Given the description of an element on the screen output the (x, y) to click on. 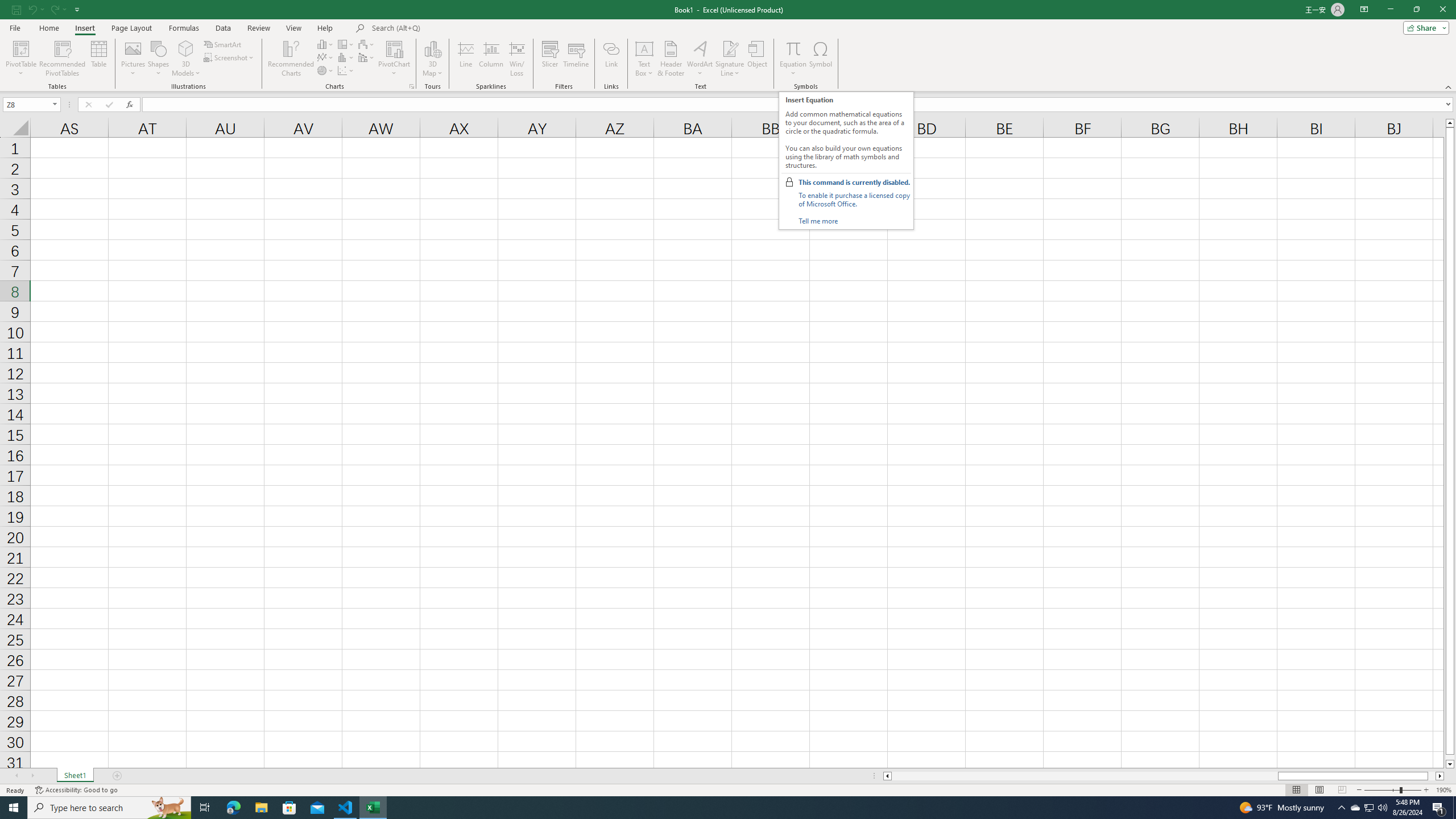
Recommended Charts (411, 85)
Draw Horizontal Text Box (643, 48)
